Given the description of an element on the screen output the (x, y) to click on. 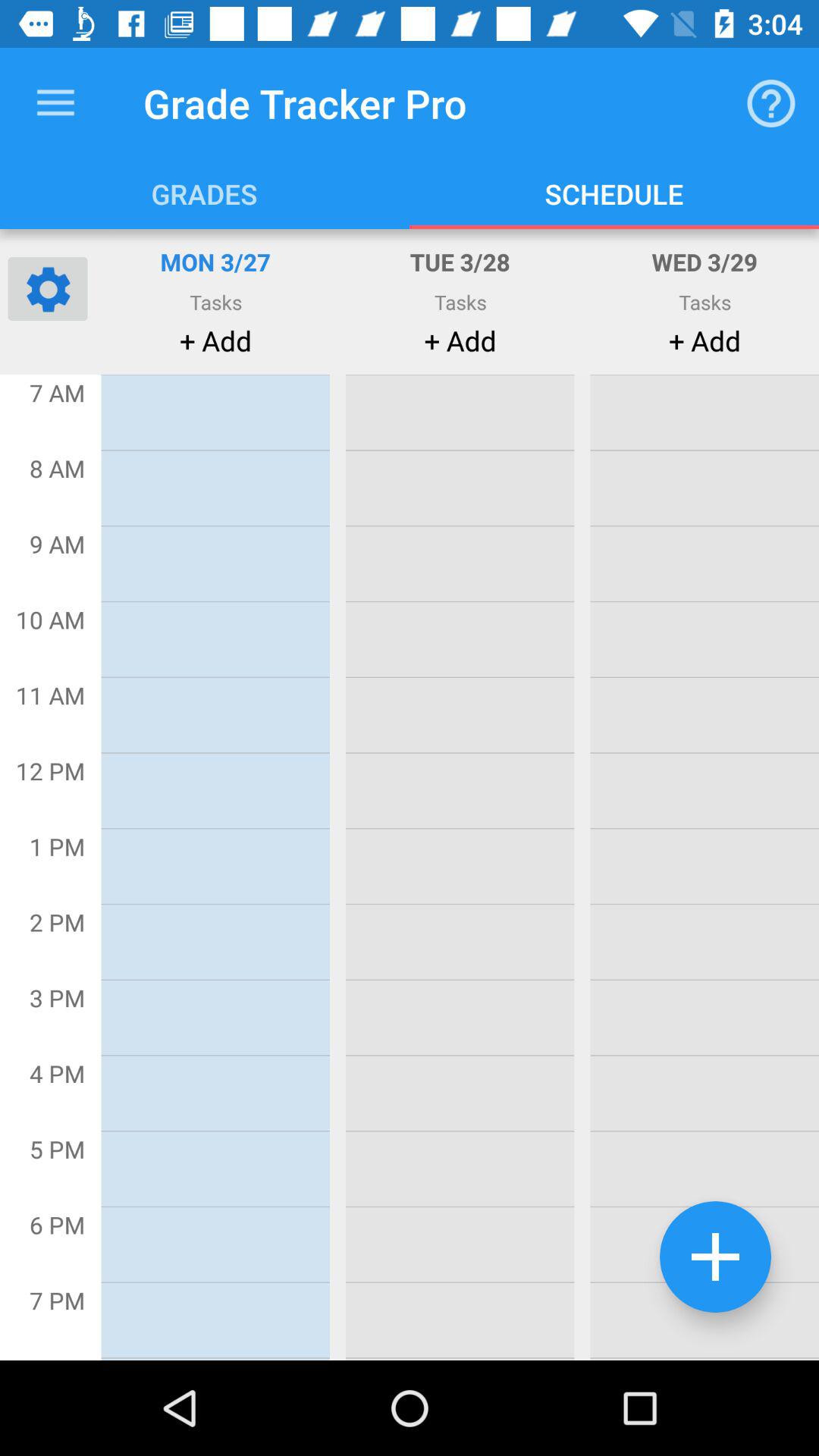
open settings for this page (47, 288)
